Given the description of an element on the screen output the (x, y) to click on. 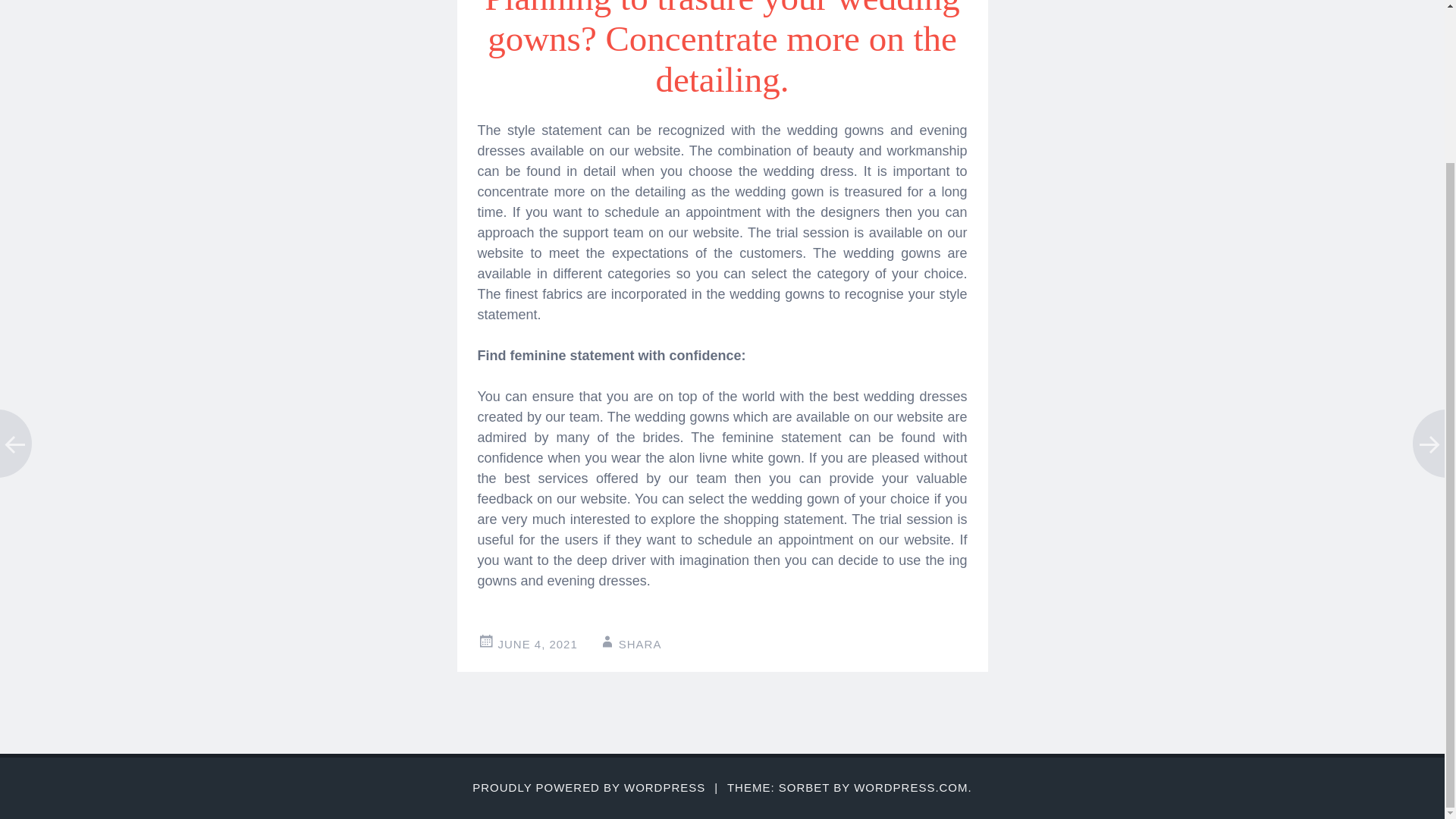
SHARA (640, 644)
JUNE 4, 2021 (536, 644)
View all posts by Shara (640, 644)
PROUDLY POWERED BY WORDPRESS (587, 787)
6:20 am (536, 644)
WORDPRESS.COM (910, 787)
